Given the description of an element on the screen output the (x, y) to click on. 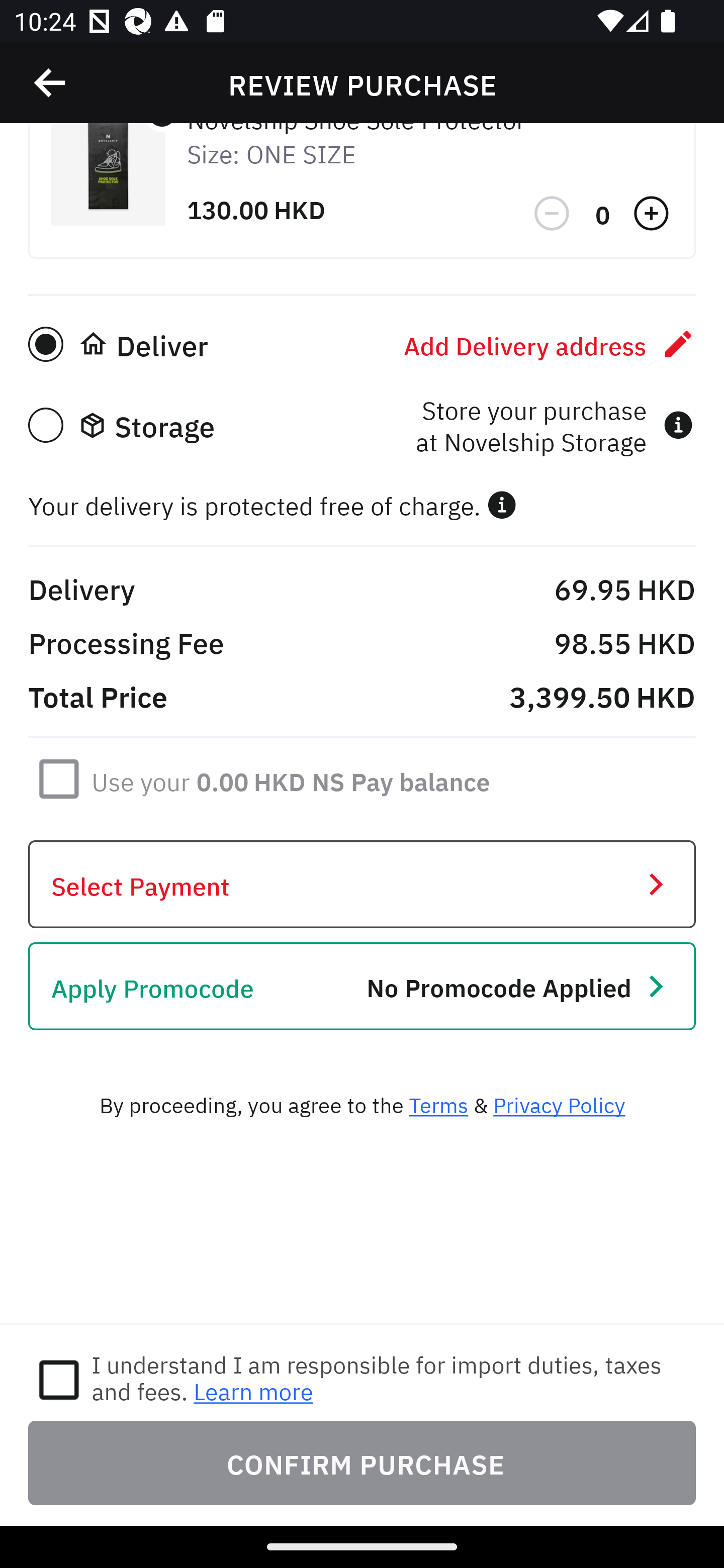
 (50, 83)
 (553, 213)
 (652, 213)
󰚡 Deliver Add Delivery address 󰏫 (361, 343)
Add Delivery address 󰏫 (549, 344)
Store your purchase
at Novelship Storage  (554, 424)
 (501, 504)
Use your 0.00 HKD NS Pay balance (290, 778)
Select Payment  (361, 884)
Apply Promocode No Promocode Applied  (361, 986)
 CONFIRM PURCHASE (361, 1462)
